Given the description of an element on the screen output the (x, y) to click on. 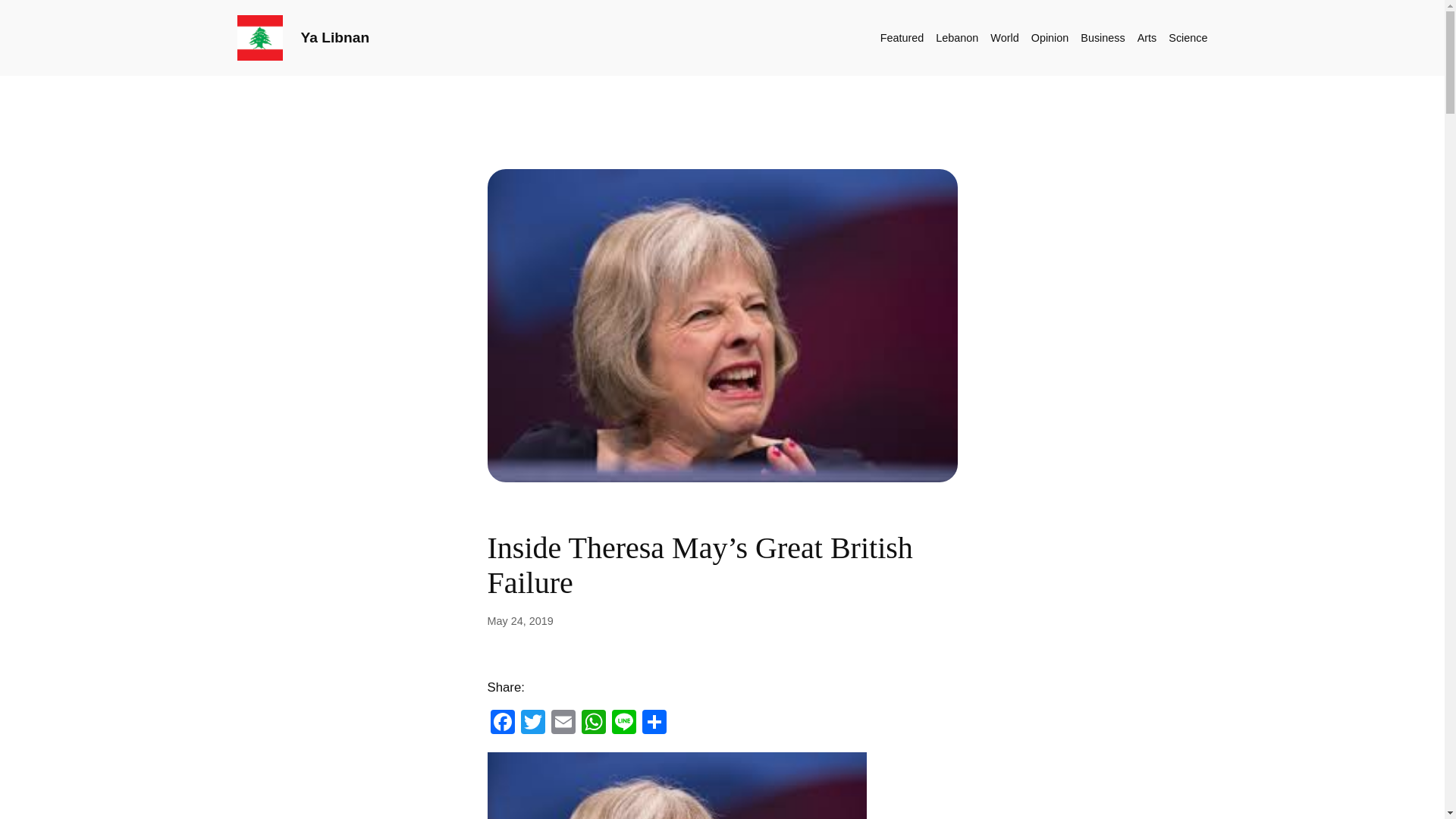
Line (623, 723)
Line (623, 723)
Email (562, 723)
World (1003, 37)
Arts (1147, 37)
Facebook (501, 723)
Science (1188, 37)
Twitter (531, 723)
Email (562, 723)
Ya Libnan (334, 37)
